Given the description of an element on the screen output the (x, y) to click on. 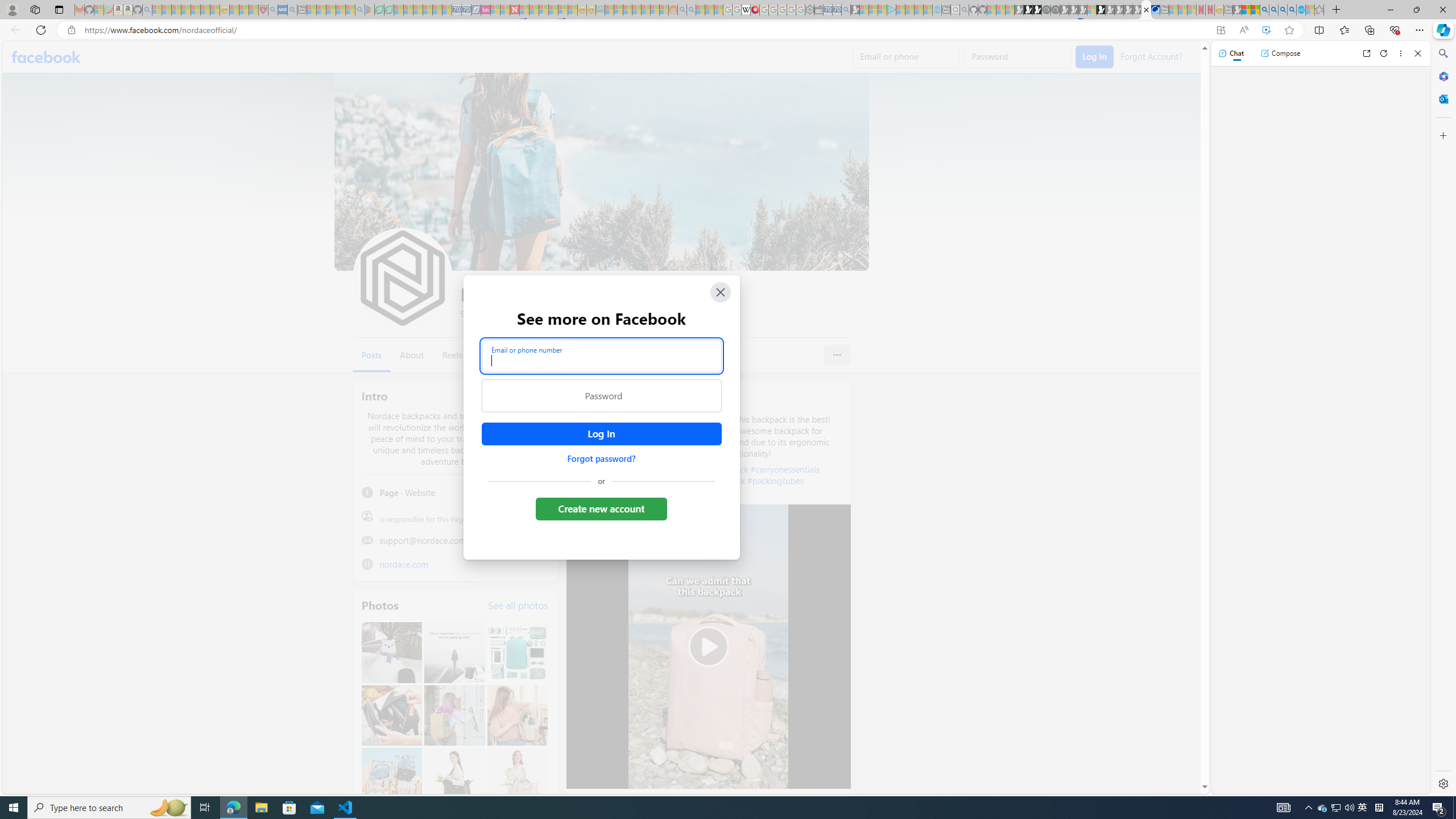
App available. Install Facebook (1220, 29)
Password (600, 395)
